Given the description of an element on the screen output the (x, y) to click on. 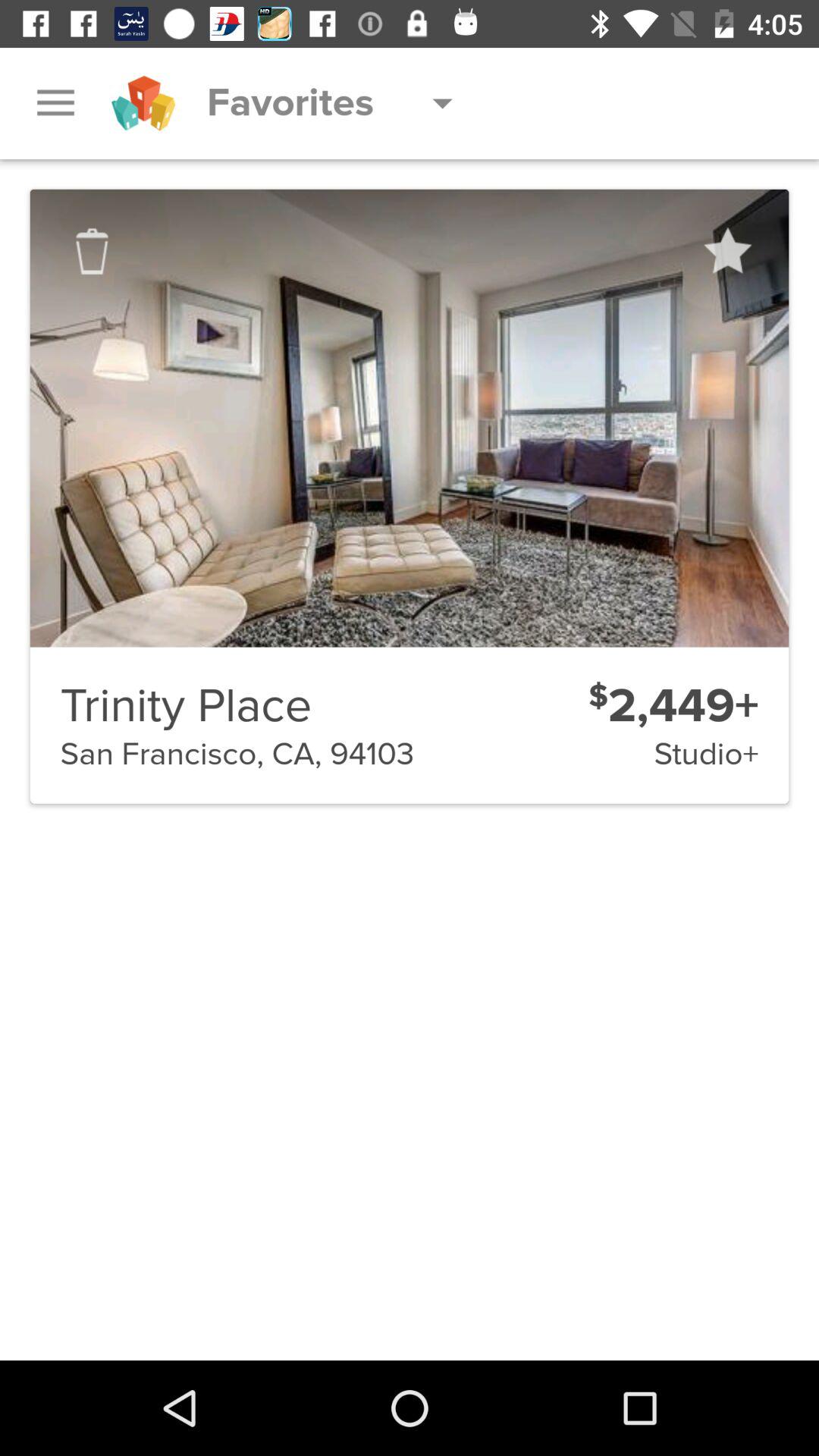
favorite page (726, 251)
